Given the description of an element on the screen output the (x, y) to click on. 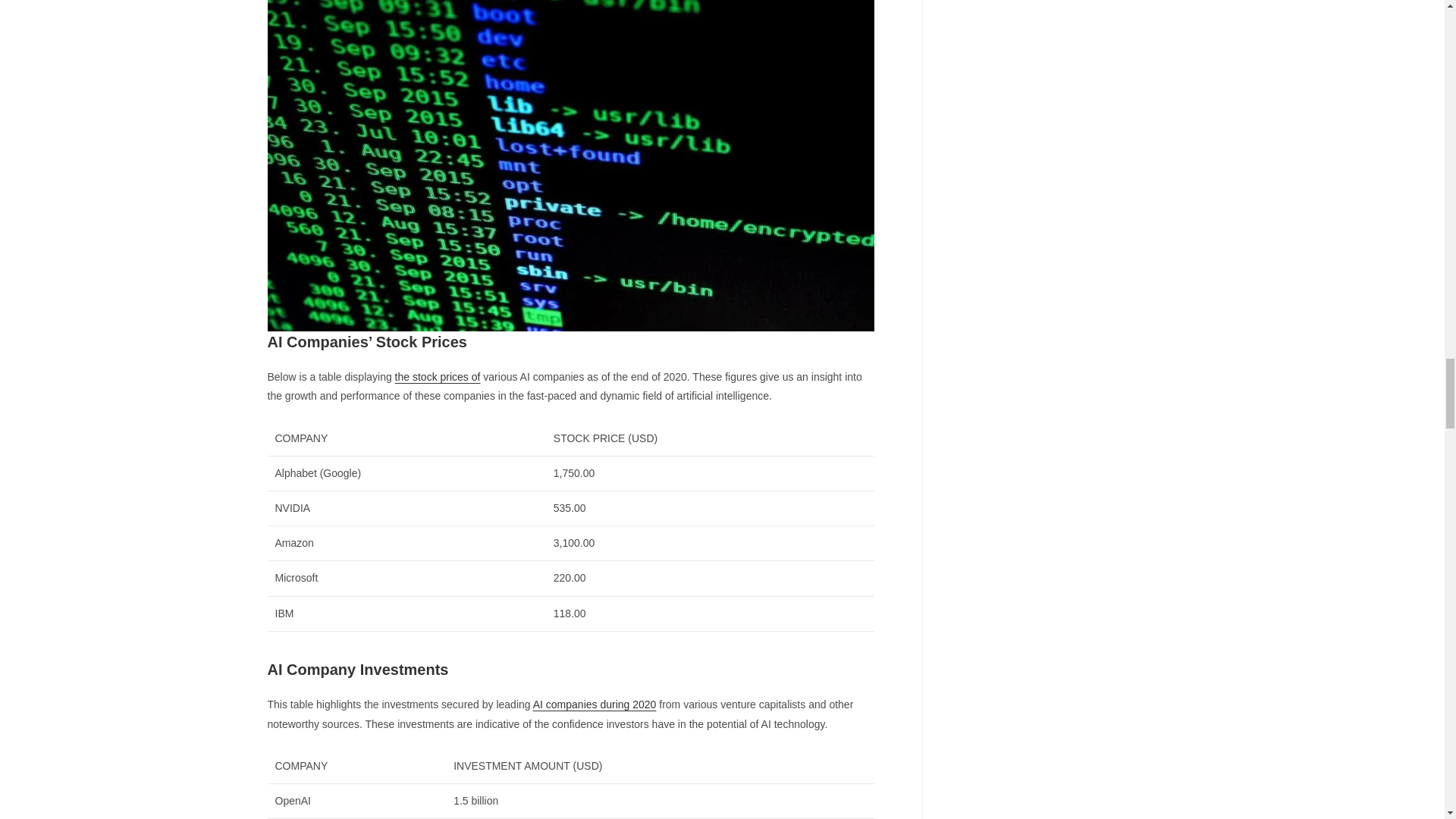
the stock prices of (437, 377)
AI companies during 2020 (594, 704)
